Given the description of an element on the screen output the (x, y) to click on. 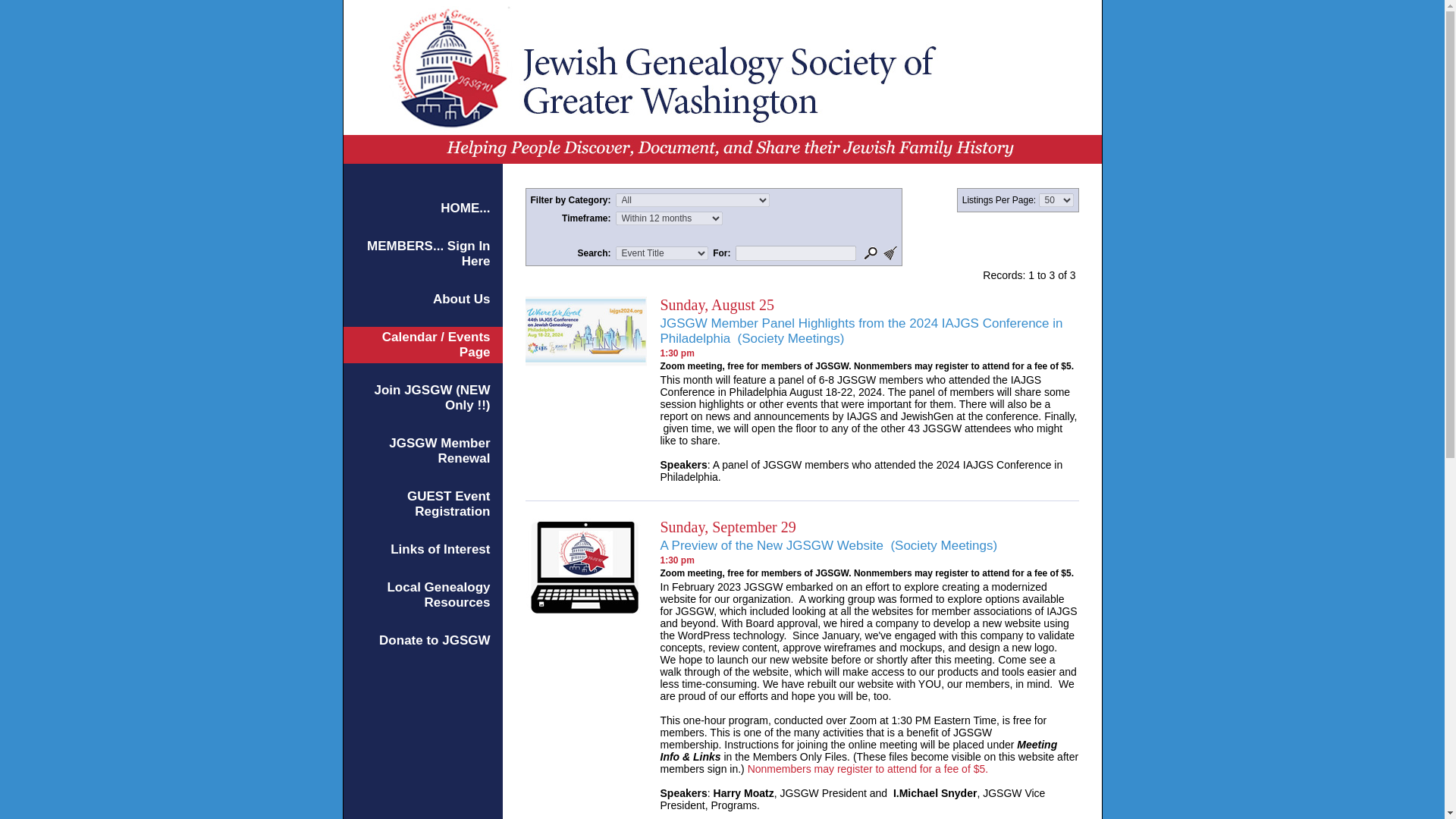
Search (870, 253)
Links of Interest (439, 549)
JGSGW Member Renewal (438, 450)
GUEST Event Registration (448, 503)
MEMBERS... Sign In Here (427, 253)
Local Genealogy Resources (438, 594)
HOME... (465, 207)
Clear Search (889, 253)
About Us (461, 298)
Donate to JGSGW (433, 640)
